Given the description of an element on the screen output the (x, y) to click on. 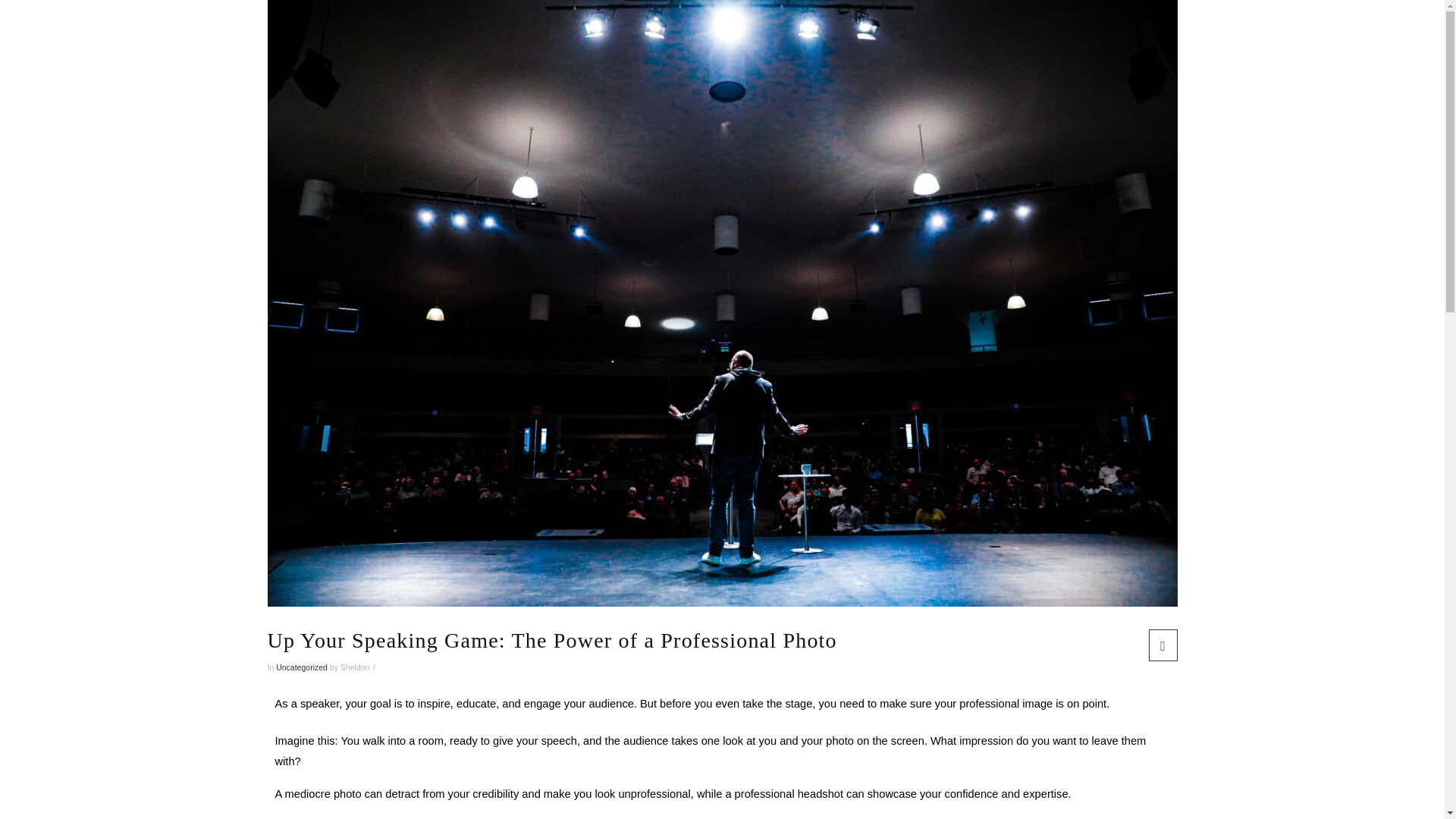
Uncategorized (301, 666)
